Given the description of an element on the screen output the (x, y) to click on. 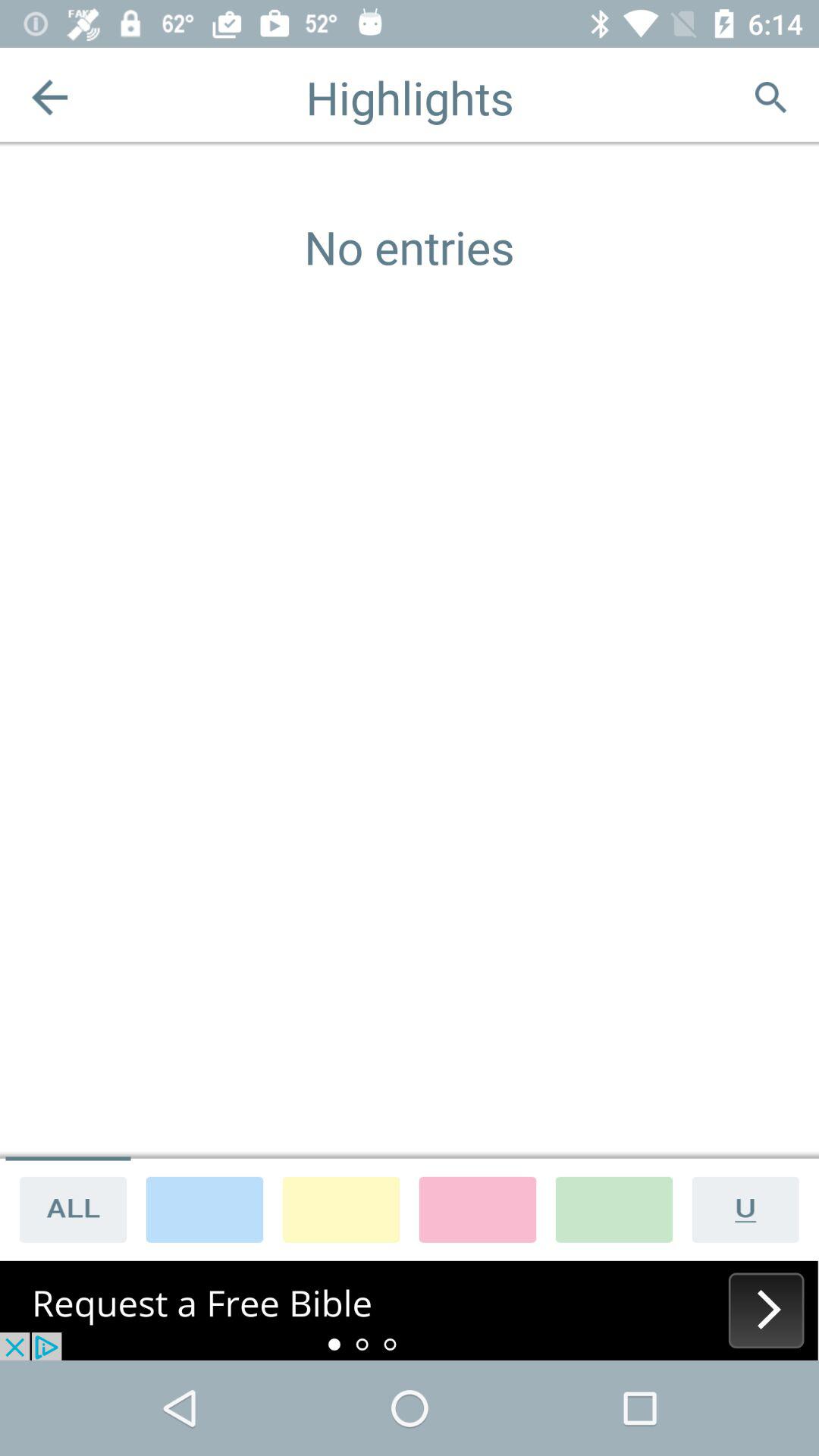
set text color pink (477, 1208)
